Given the description of an element on the screen output the (x, y) to click on. 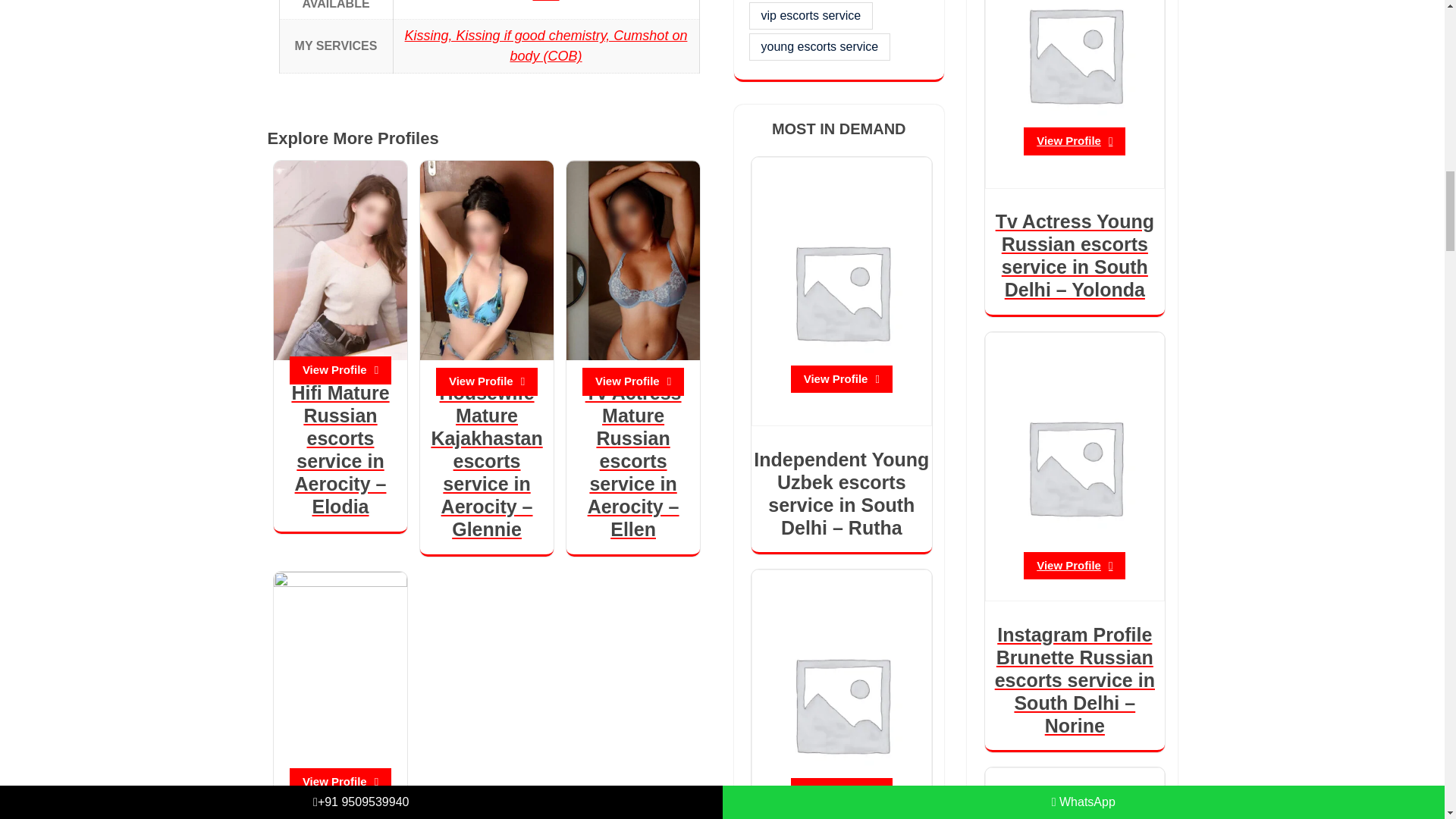
View Profile (340, 370)
View Profile (486, 381)
